Given the description of an element on the screen output the (x, y) to click on. 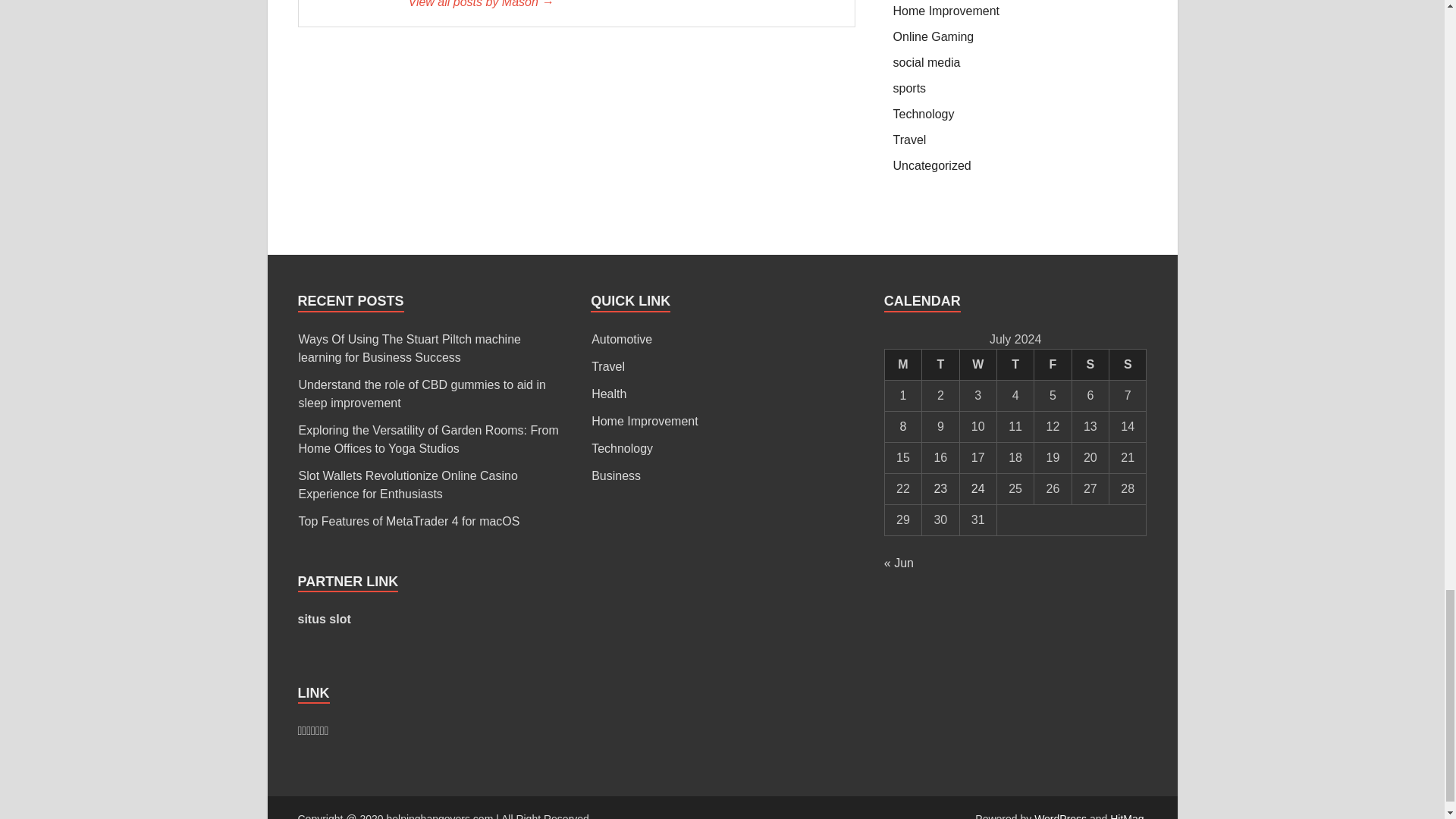
Tuesday (940, 364)
Saturday (1089, 364)
Wednesday (977, 364)
Monday (902, 364)
Thursday (1014, 364)
Mason (622, 5)
Friday (1052, 364)
Sunday (1128, 364)
